Given the description of an element on the screen output the (x, y) to click on. 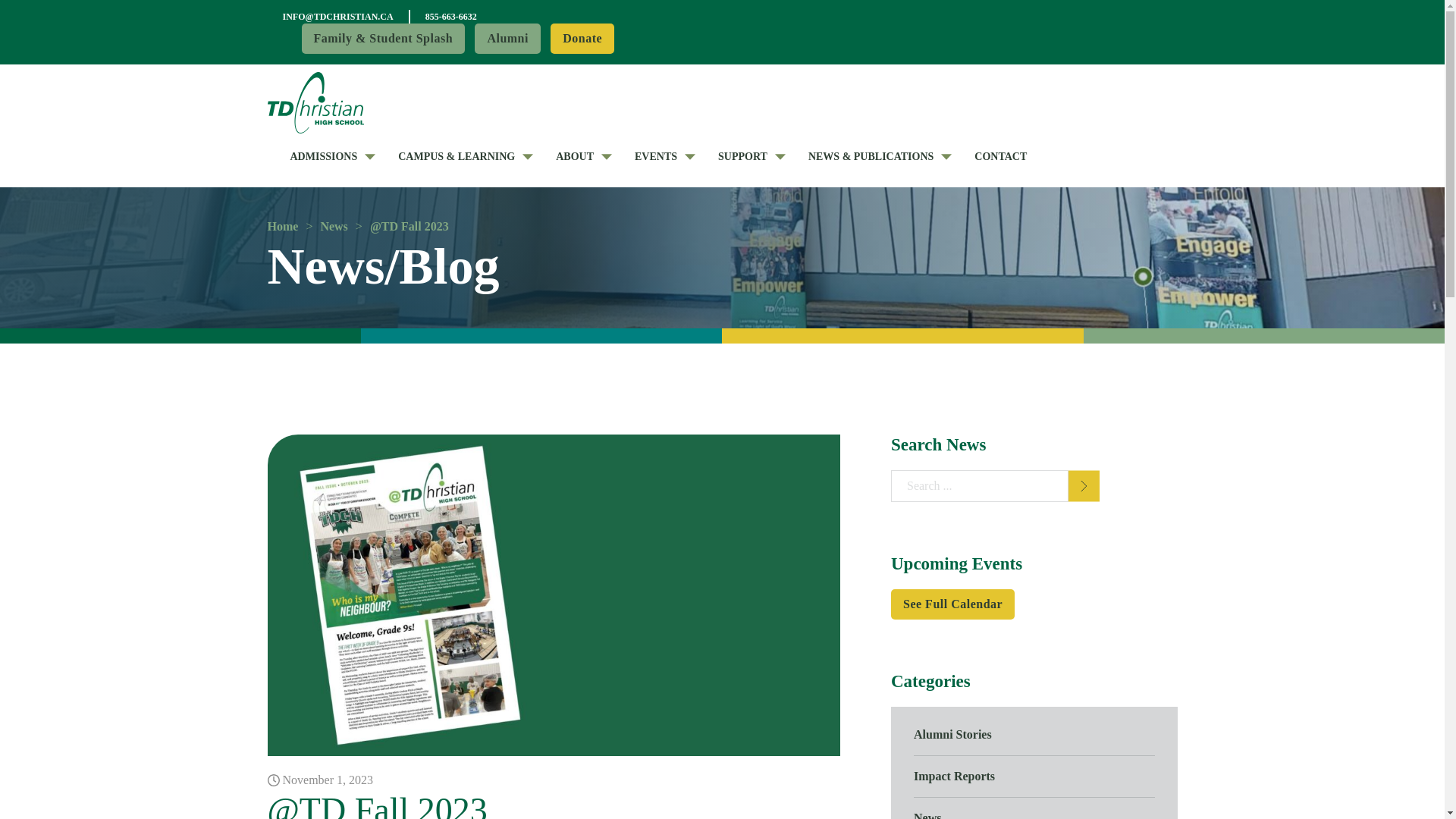
EVENTS (655, 156)
SUPPORT (742, 156)
Alumni (507, 38)
855-663-6632 (451, 16)
Donate (582, 38)
ADMISSIONS (322, 156)
